Given the description of an element on the screen output the (x, y) to click on. 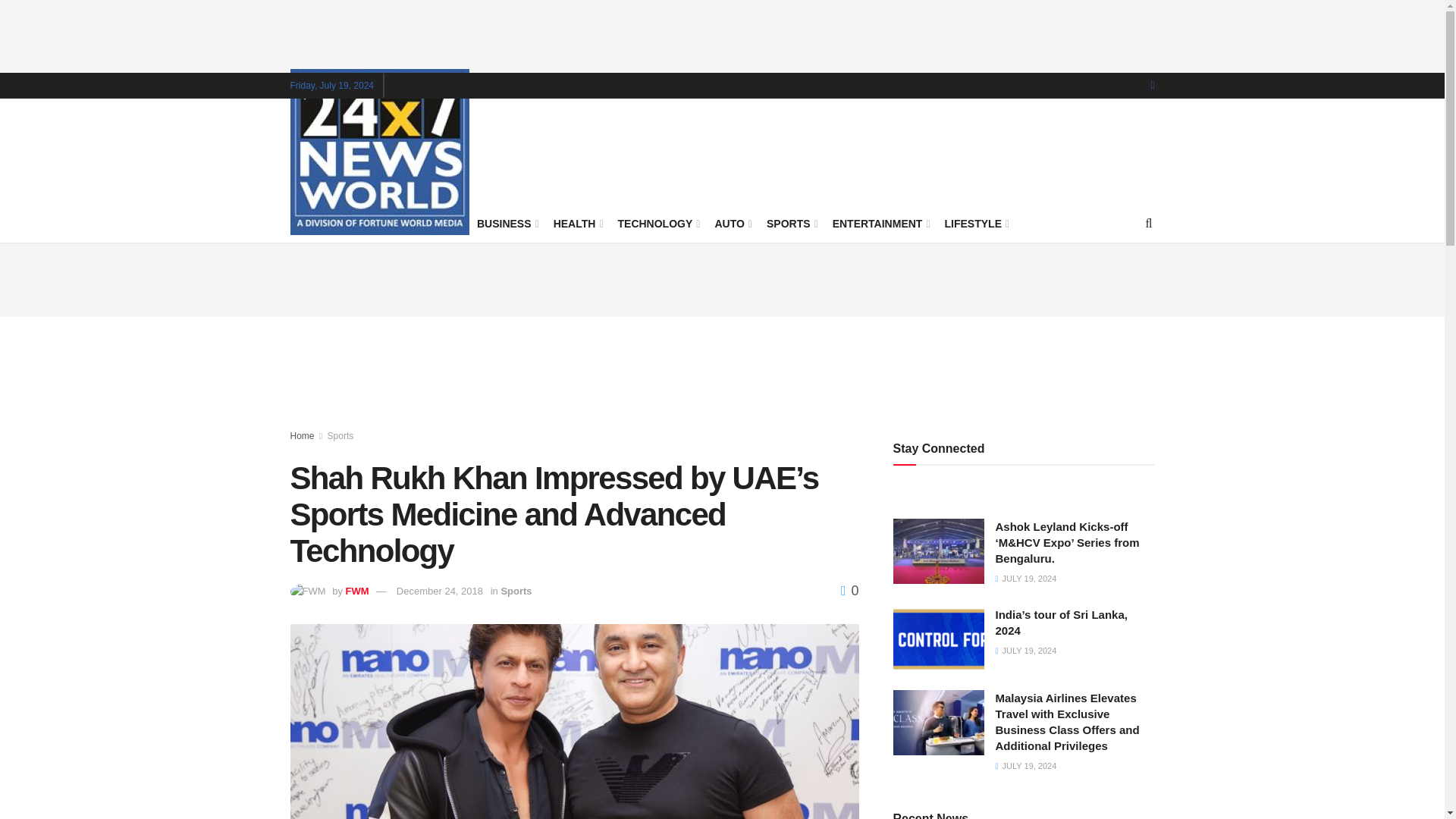
NATIONAL (430, 223)
Advertisement (722, 33)
HEALTH (577, 223)
Advertisement (878, 149)
HOME (305, 223)
WORLD (360, 223)
Advertisement (722, 373)
Advertisement (722, 277)
BUSINESS (507, 223)
